Given the description of an element on the screen output the (x, y) to click on. 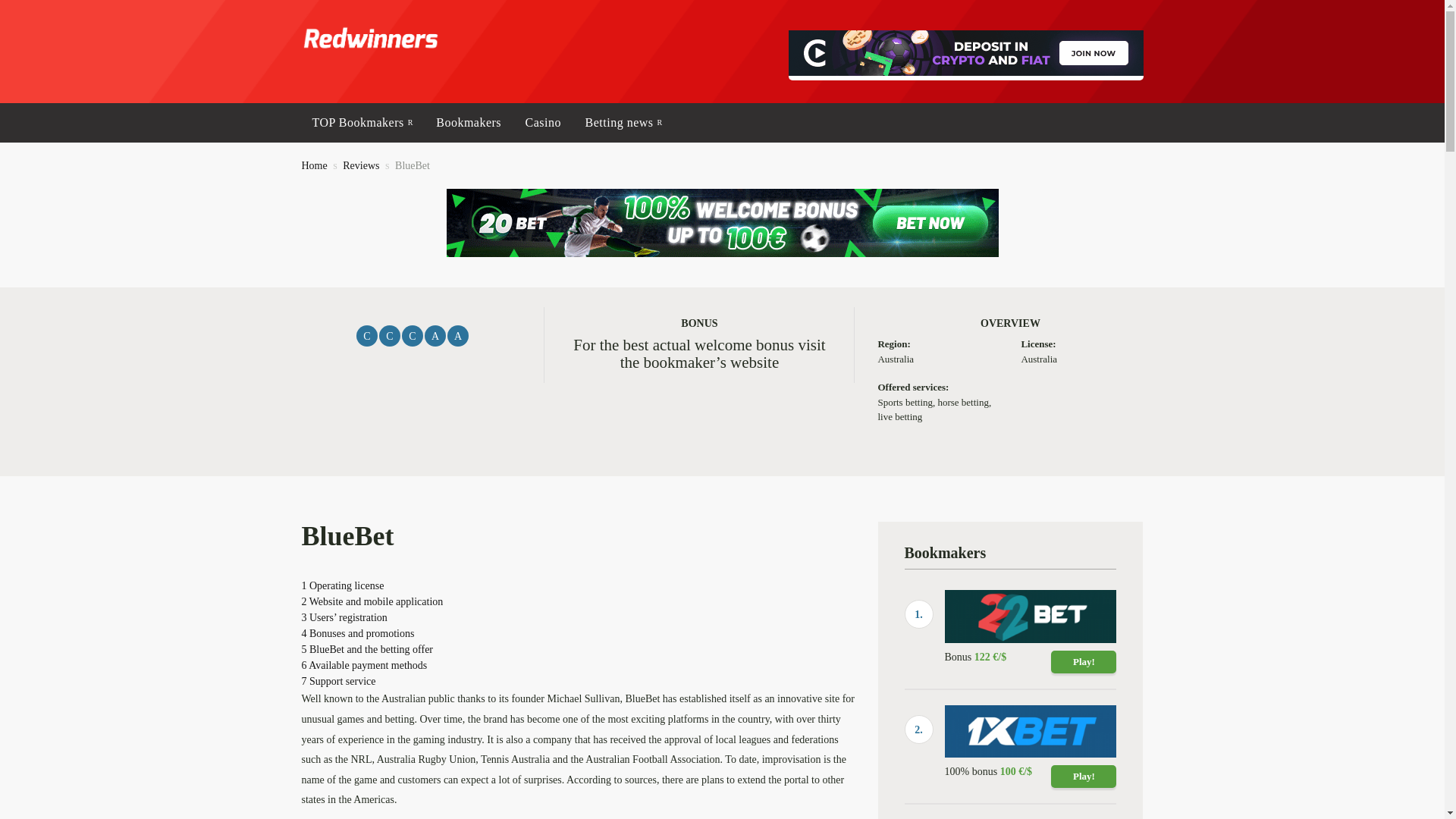
Betting news (623, 122)
20Bet (721, 223)
TOP Bookmakers (362, 122)
Casino (542, 122)
BlueBet (411, 165)
Reviews (360, 165)
Home (314, 165)
Bookmakers (467, 122)
